Given the description of an element on the screen output the (x, y) to click on. 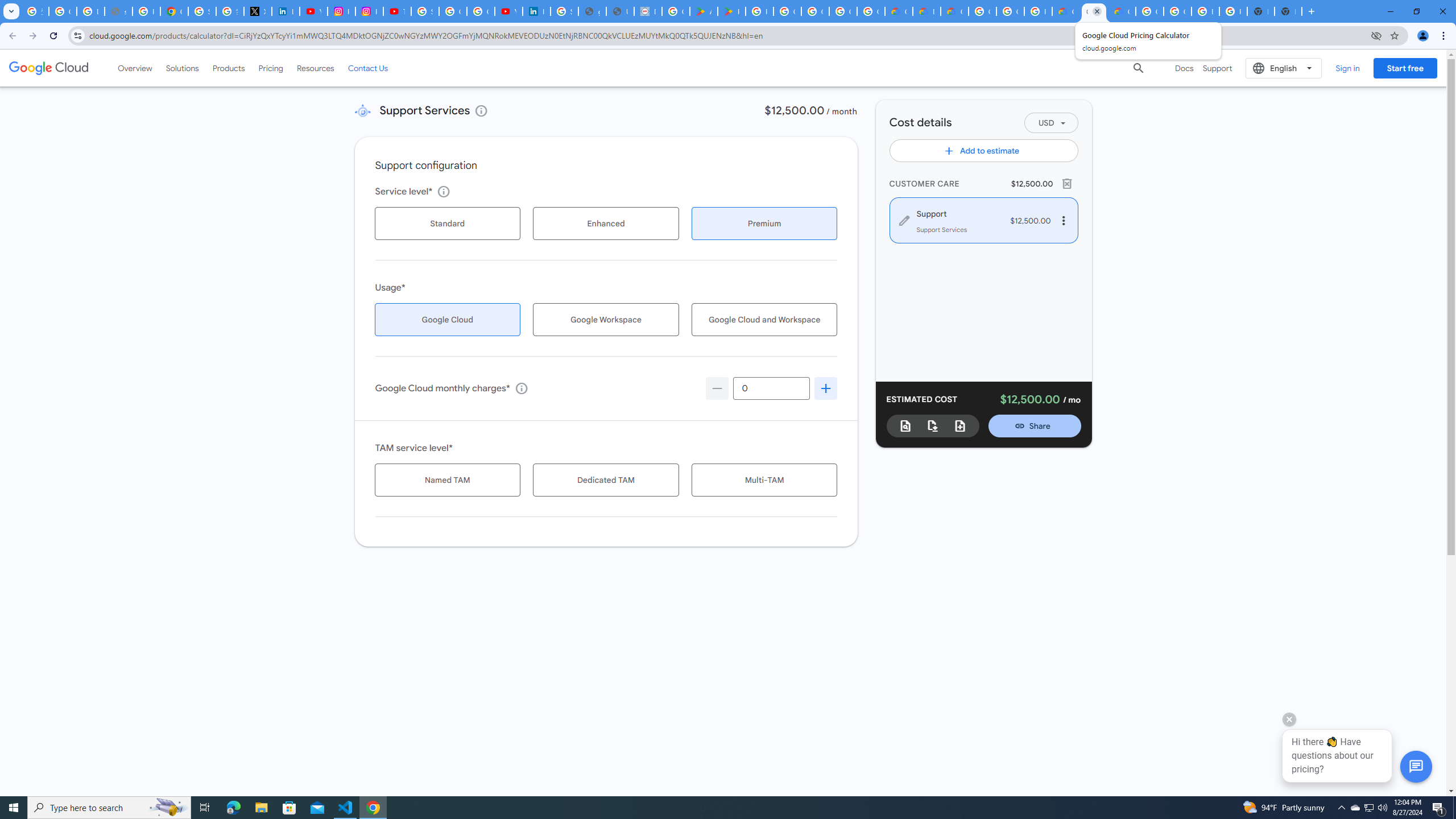
Customer Care | Google Cloud (898, 11)
google_privacy_policy_en.pdf (592, 11)
Support (1216, 67)
New Tab (1288, 11)
PAW Patrol Rescue World - Apps on Google Play (731, 11)
Google Cloud Platform (1150, 11)
X (257, 11)
Solutions (181, 67)
Customer Care | Google Cloud (1065, 11)
Rename Support (955, 213)
